Given the description of an element on the screen output the (x, y) to click on. 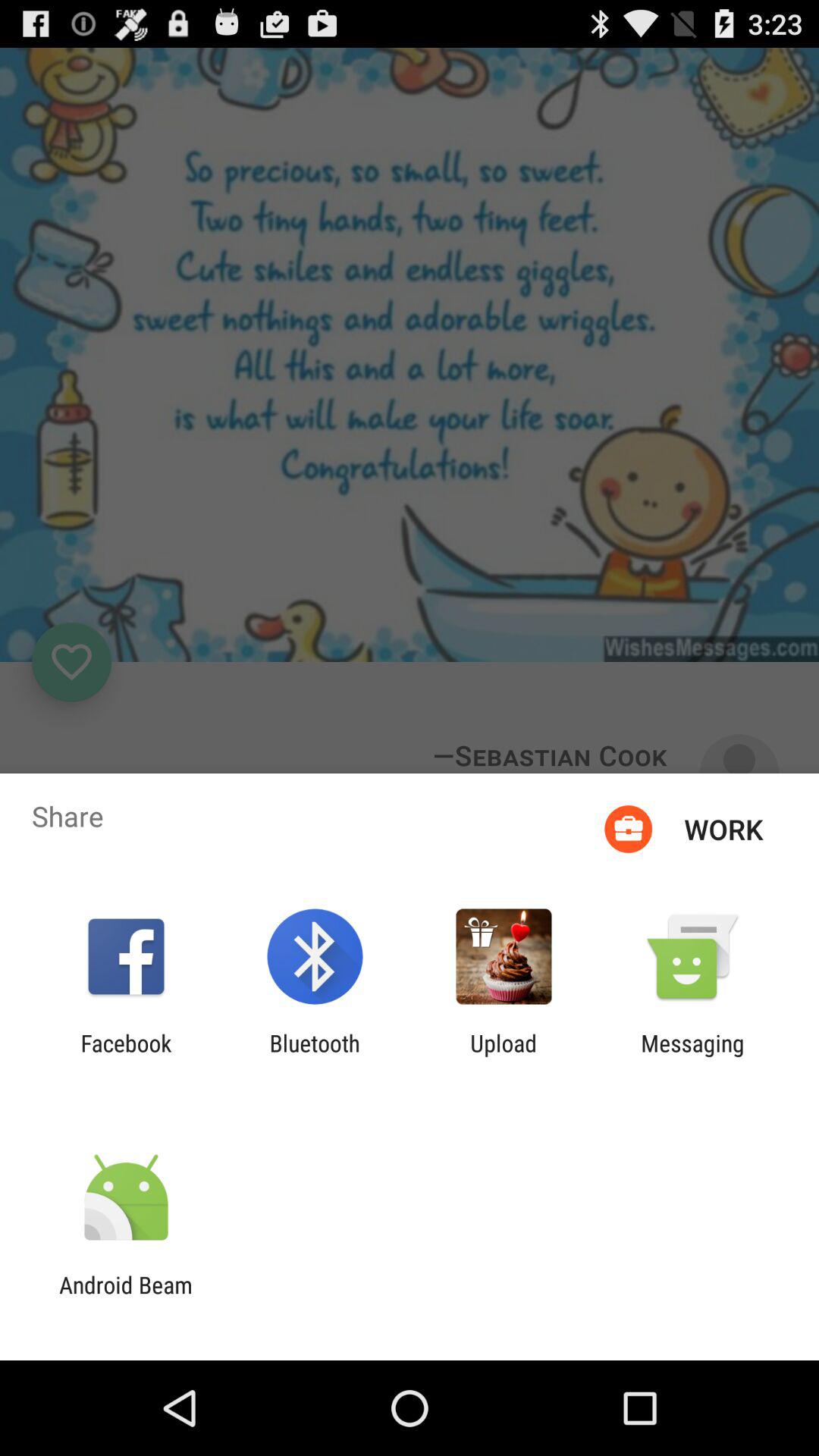
scroll until the upload item (503, 1056)
